Given the description of an element on the screen output the (x, y) to click on. 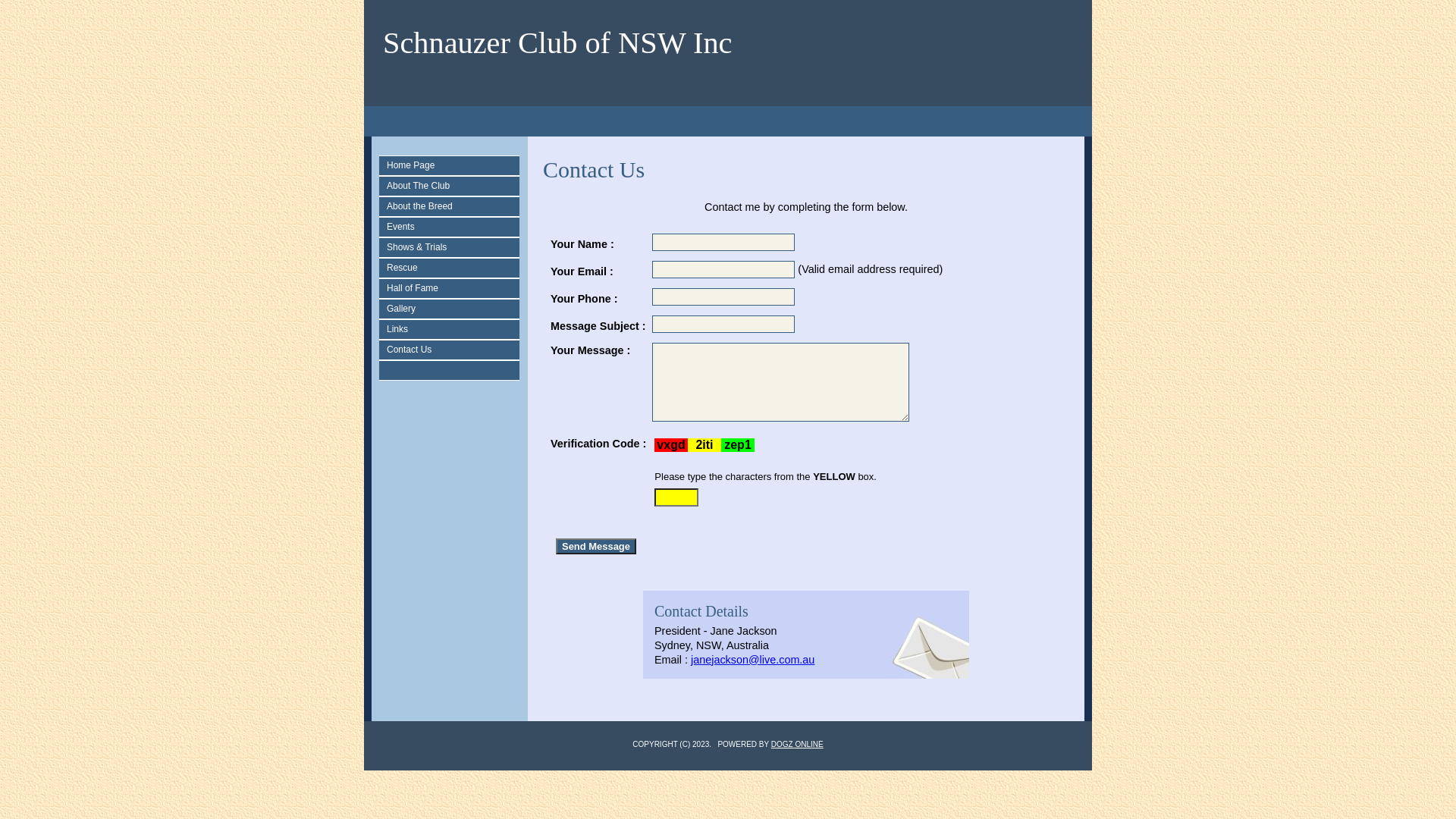
Home Page Element type: text (452, 165)
Rescue Element type: text (452, 267)
Shows & Trials Element type: text (452, 247)
janejackson@live.com.au Element type: text (752, 659)
Send Message Element type: text (595, 546)
Events Element type: text (452, 226)
About the Breed Element type: text (452, 206)
Contact Us Element type: text (452, 349)
Links Element type: text (452, 329)
About The Club Element type: text (452, 185)
DOGZ ONLINE Element type: text (797, 744)
Hall of Fame Element type: text (452, 288)
Gallery Element type: text (452, 308)
